Given the description of an element on the screen output the (x, y) to click on. 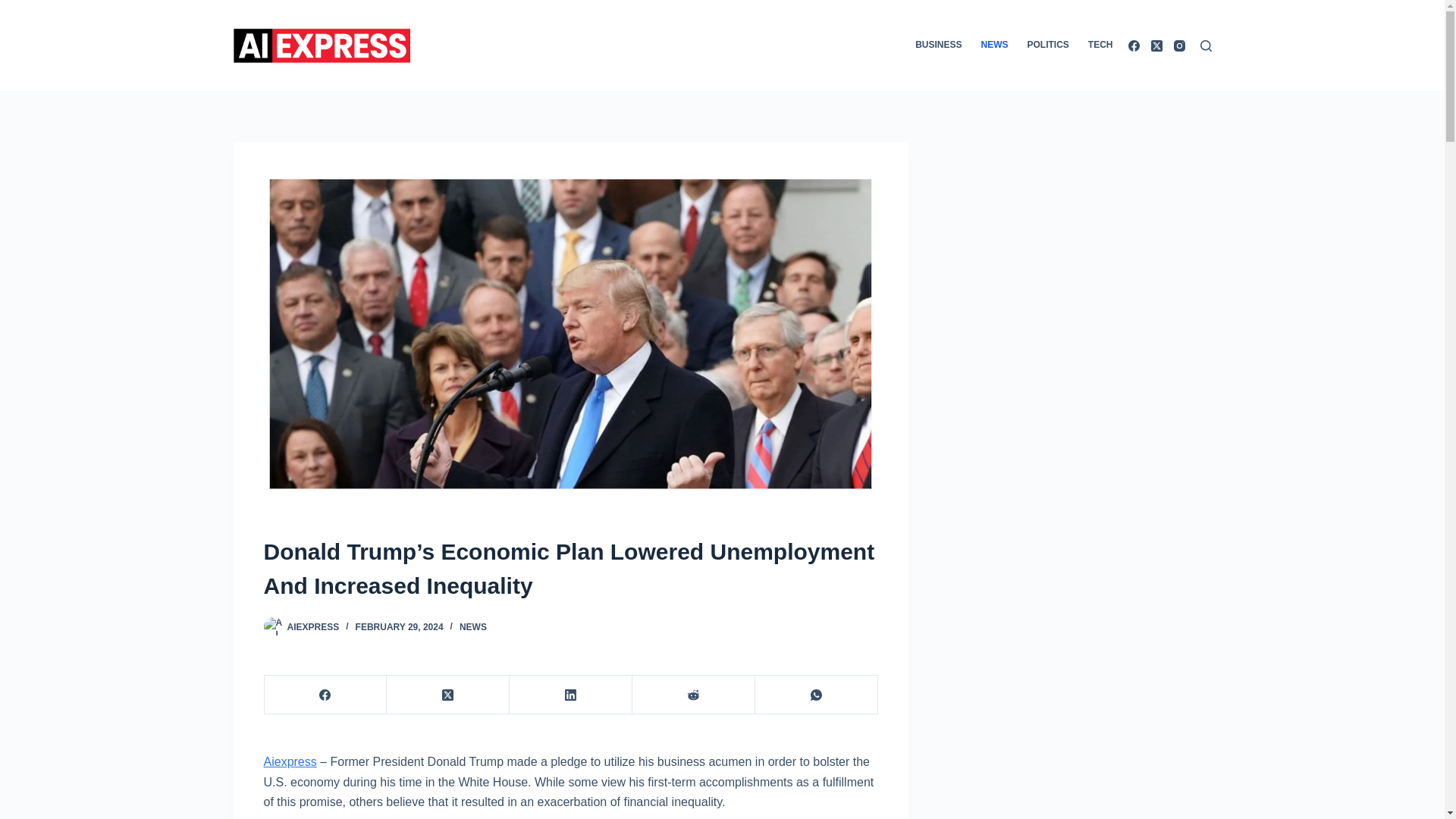
AIEXPRESS (312, 626)
NEWS (473, 626)
Aiexpress (290, 761)
Skip to content (15, 7)
Posts by aiexpress (312, 626)
